Given the description of an element on the screen output the (x, y) to click on. 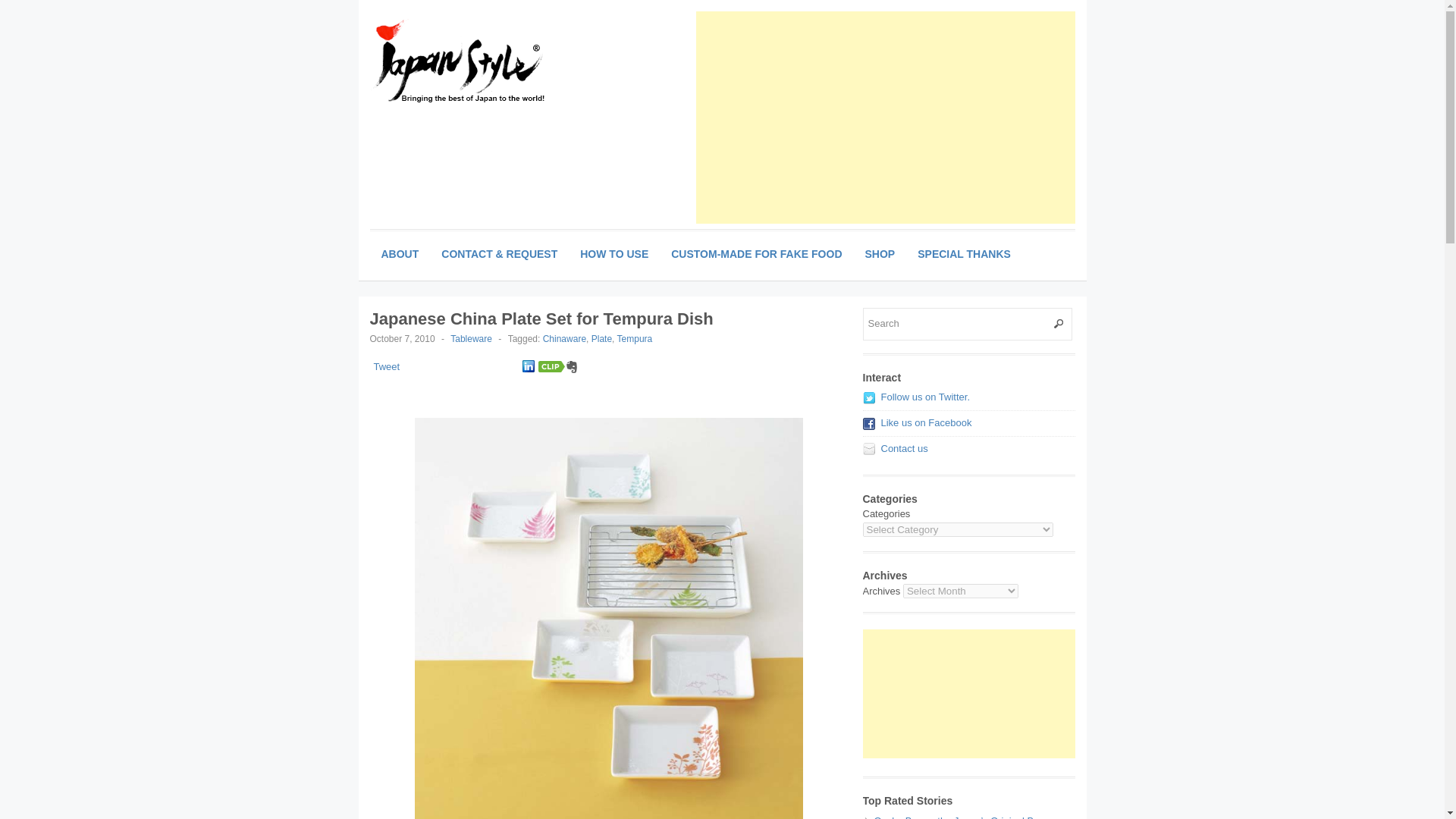
HOW TO USE (614, 254)
Chinaware (564, 338)
Like us on Facebook (926, 422)
Japan Style (482, 58)
Contact us (904, 448)
Follow us on twitter (925, 396)
Share on LinkedIn (527, 366)
Contact us (904, 448)
CUSTOM-MADE FOR FAKE FOOD (756, 254)
